Given the description of an element on the screen output the (x, y) to click on. 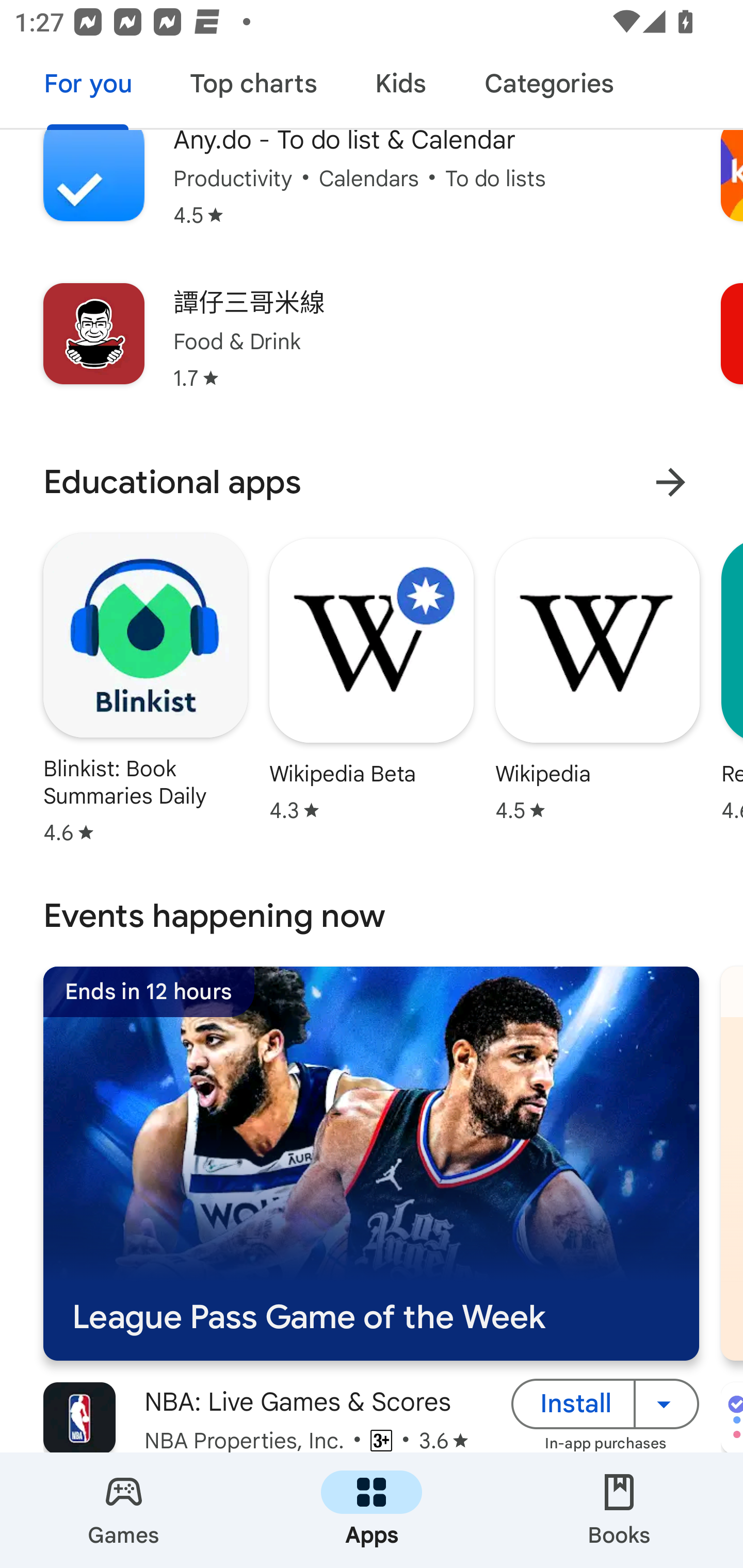
Top charts (253, 86)
Kids (400, 86)
Categories (548, 86)
譚仔三哥米線
Food & Drink
Star rating: 1.7
 (371, 349)
Educational apps More results for Educational apps (371, 482)
More results for Educational apps (670, 482)
Blinkist: Book Summaries Daily
Star rating: 4.6
 (145, 688)
Wikipedia Beta
Star rating: 4.3
 (371, 679)
Wikipedia
Star rating: 4.5
 (597, 679)
League Pass Game of the Week Ends in 12 hours (371, 1163)
Install Install Install on more devices (605, 1404)
Install on more devices (666, 1404)
Games (123, 1509)
Books (619, 1509)
